Given the description of an element on the screen output the (x, y) to click on. 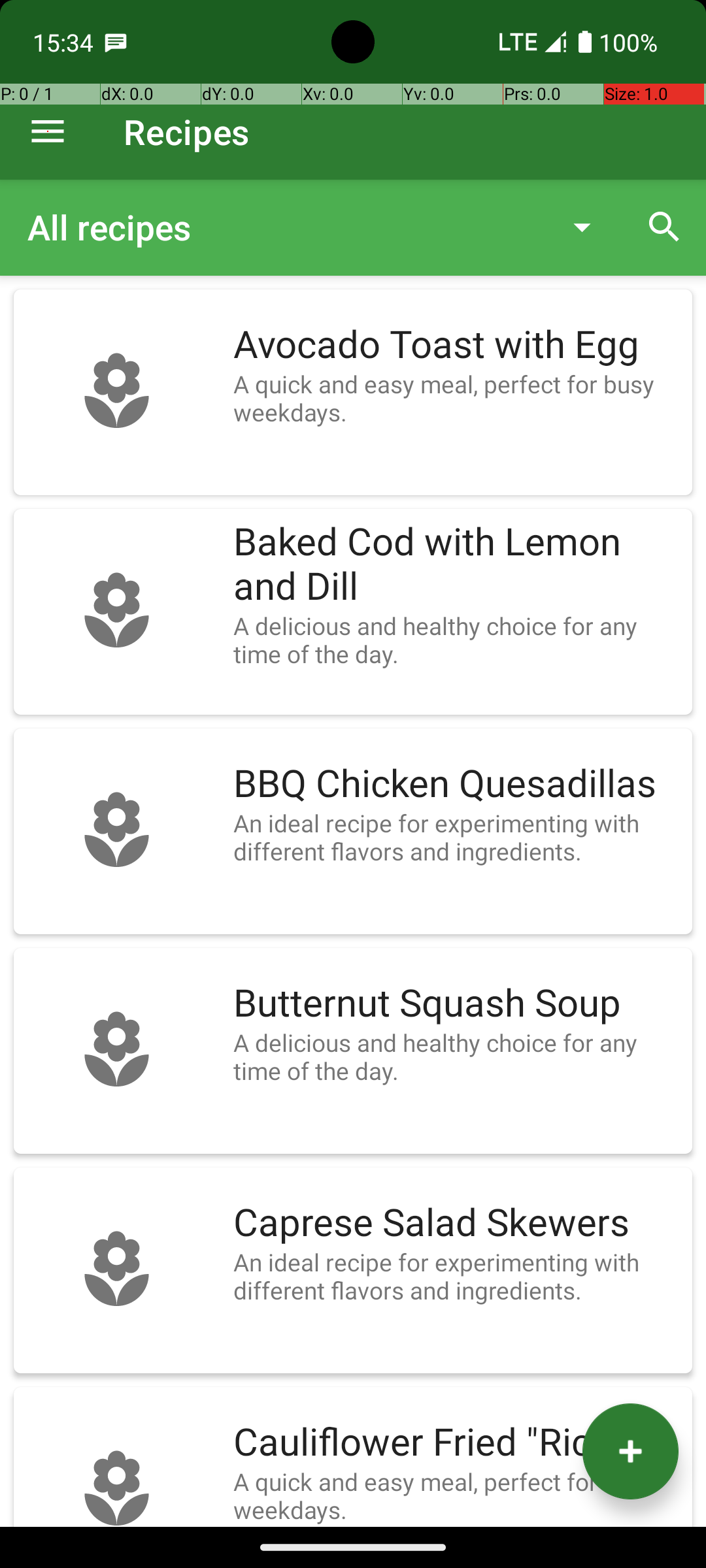
SMS Messenger notification: Isla da Silva Element type: android.widget.ImageView (115, 41)
